Given the description of an element on the screen output the (x, y) to click on. 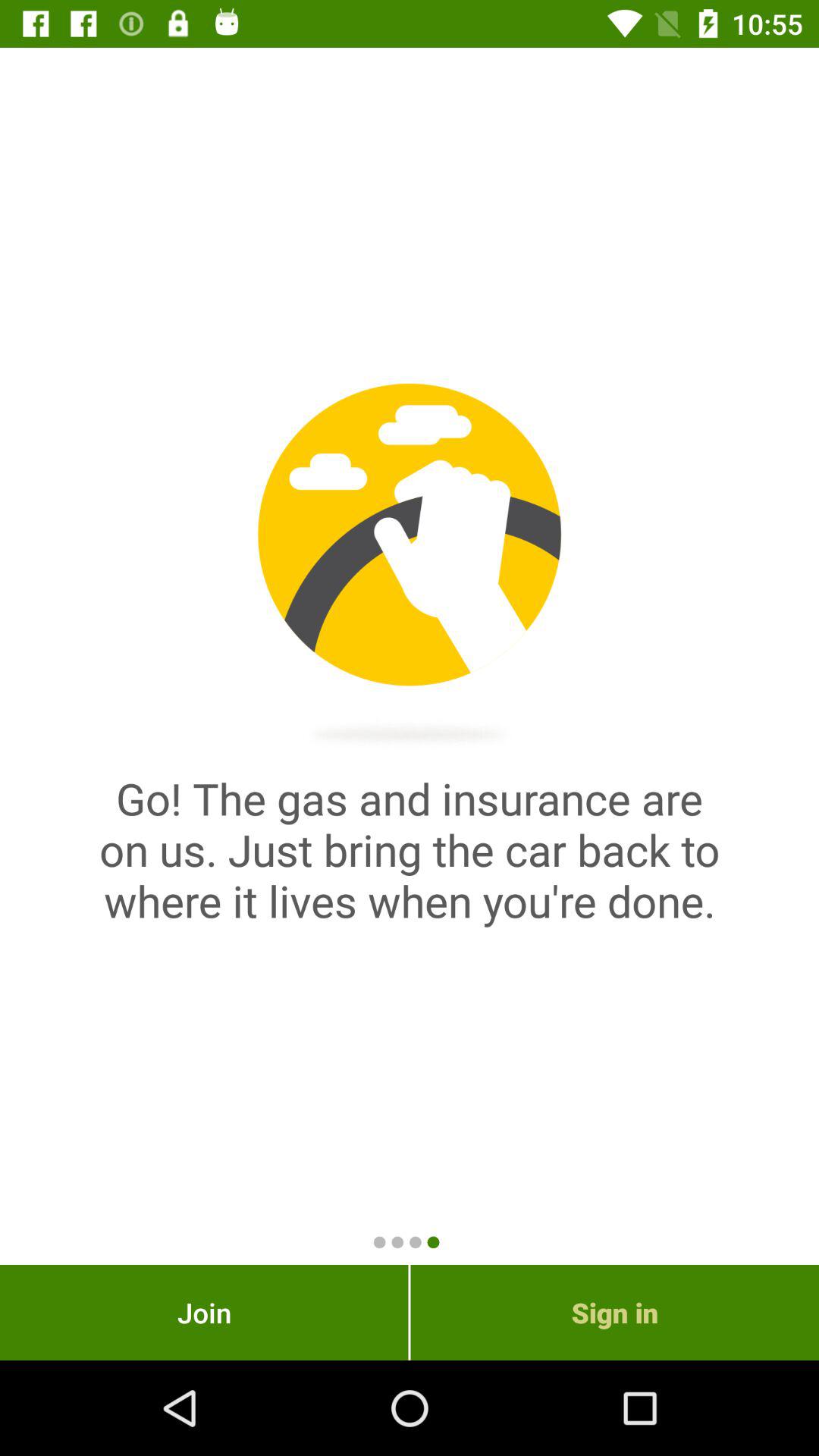
flip to join (204, 1312)
